Given the description of an element on the screen output the (x, y) to click on. 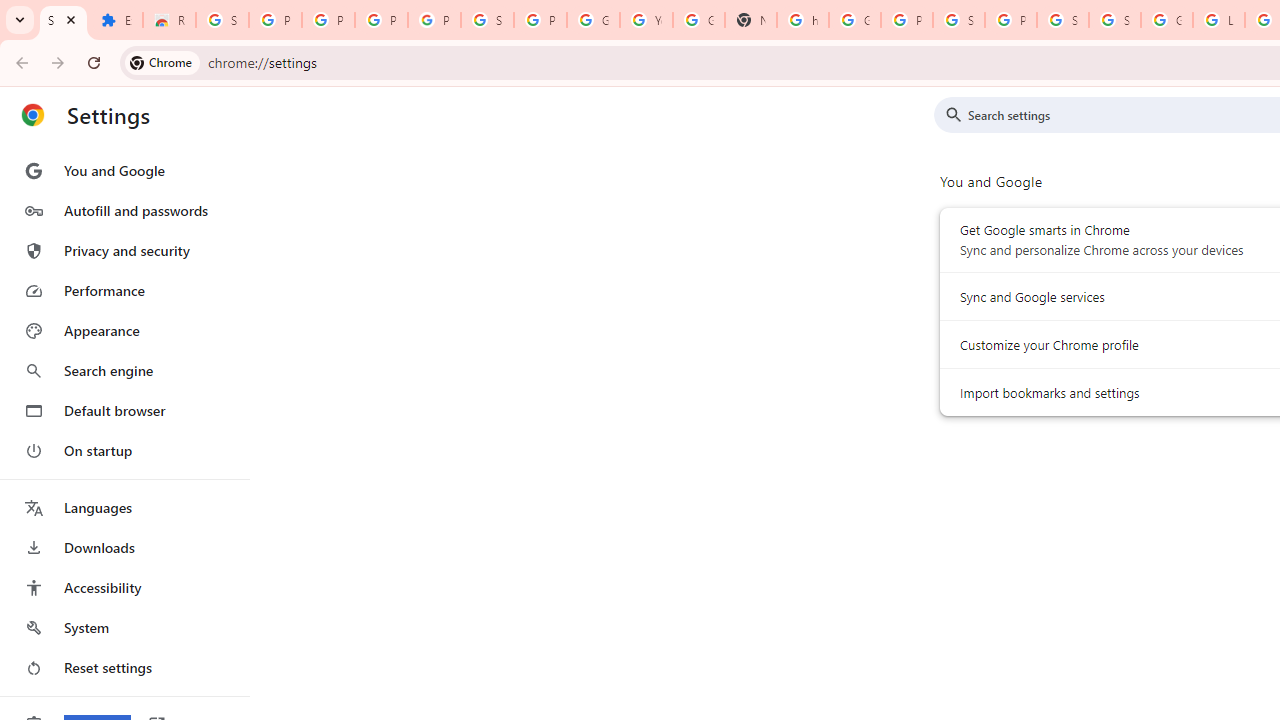
Languages (124, 507)
Autofill and passwords (124, 210)
On startup (124, 450)
Google Account (593, 20)
Extensions (116, 20)
Performance (124, 290)
Sign in - Google Accounts (222, 20)
